Given the description of an element on the screen output the (x, y) to click on. 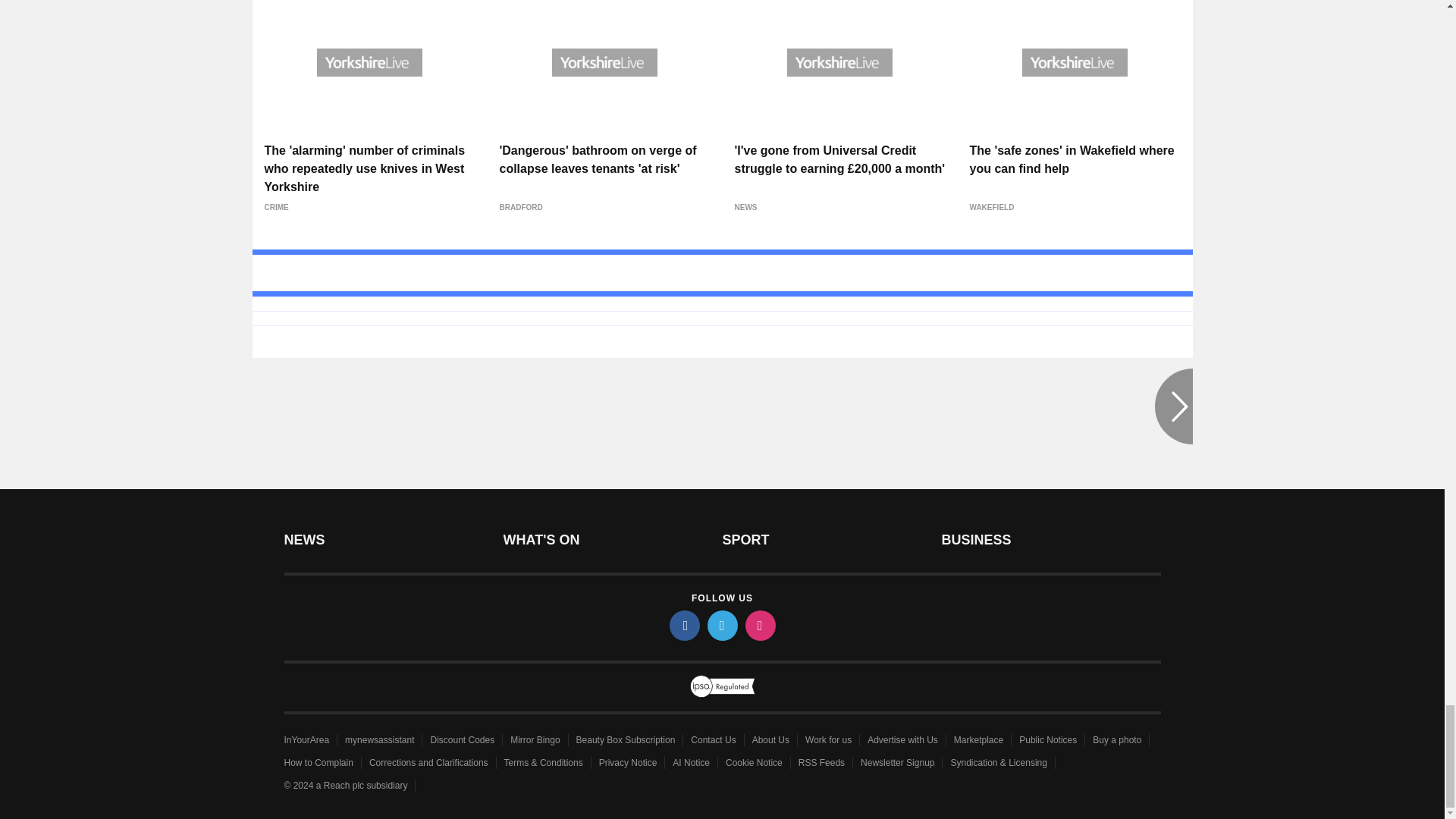
instagram (759, 625)
twitter (721, 625)
facebook (683, 625)
